Given the description of an element on the screen output the (x, y) to click on. 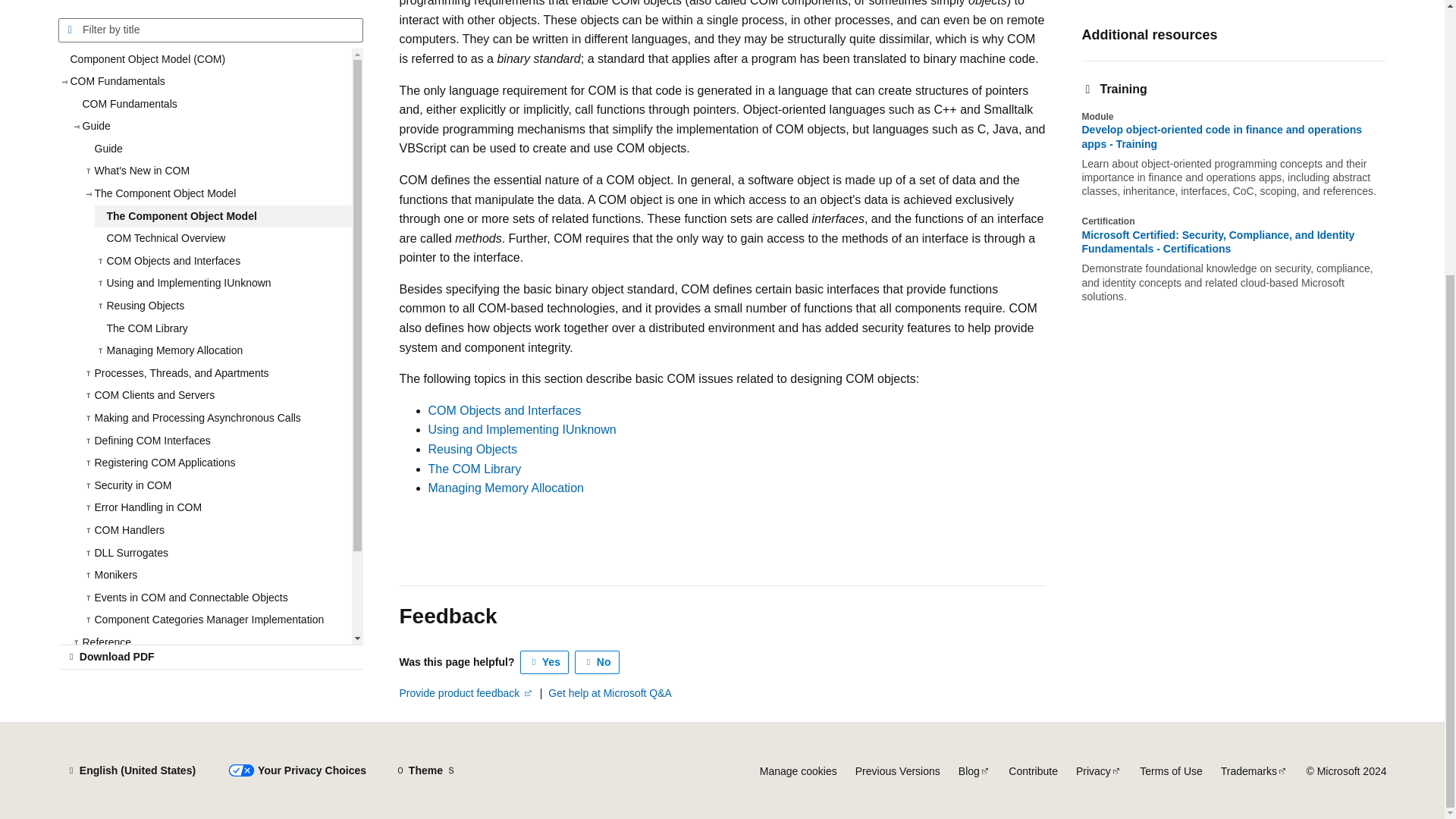
This article is helpful (544, 662)
This article is not helpful (597, 662)
Theme (425, 770)
